Given the description of an element on the screen output the (x, y) to click on. 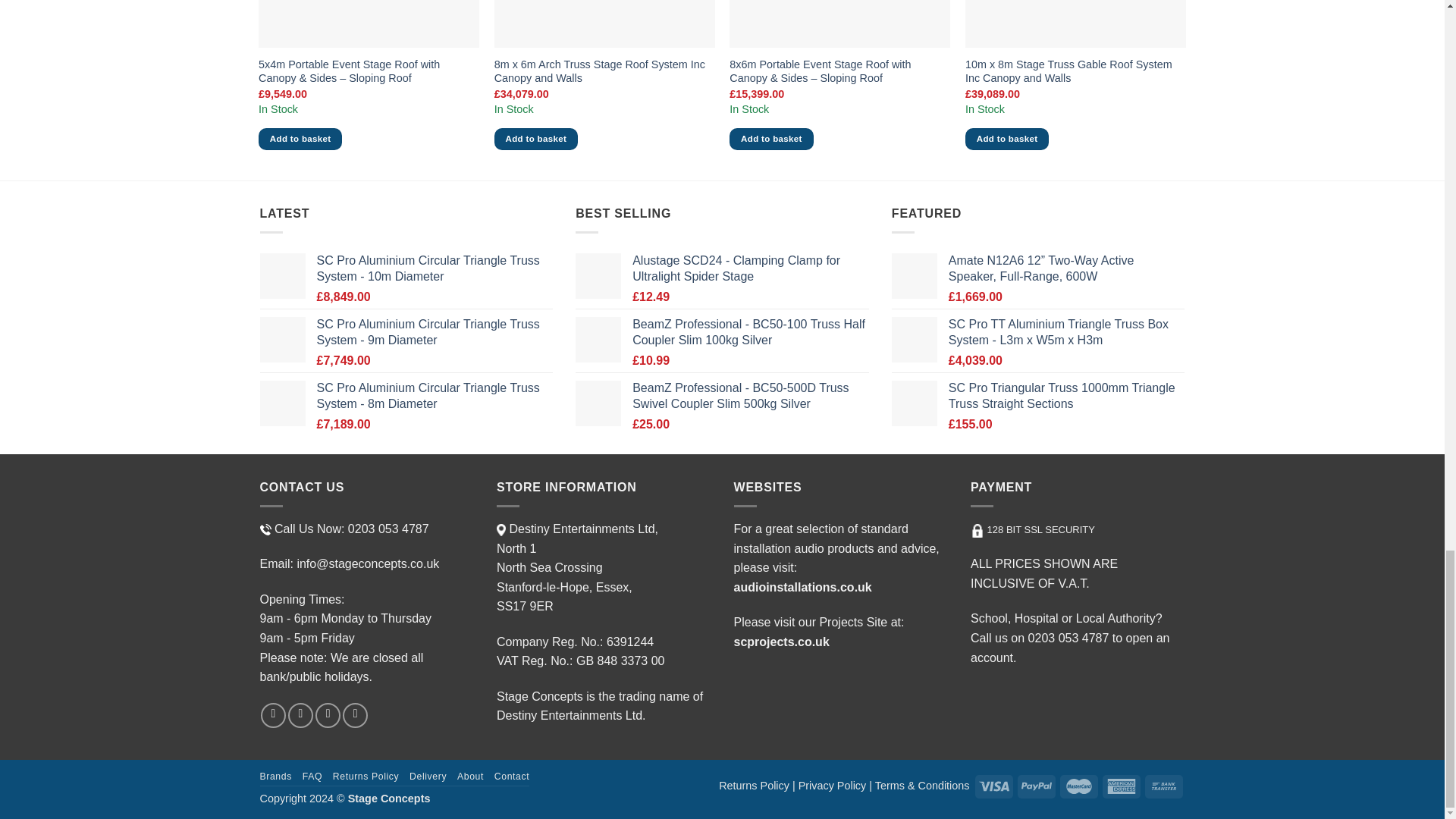
Follow on Facebook (272, 715)
Follow on LinkedIn (355, 715)
Send us an email (300, 715)
Call us (327, 715)
